Given the description of an element on the screen output the (x, y) to click on. 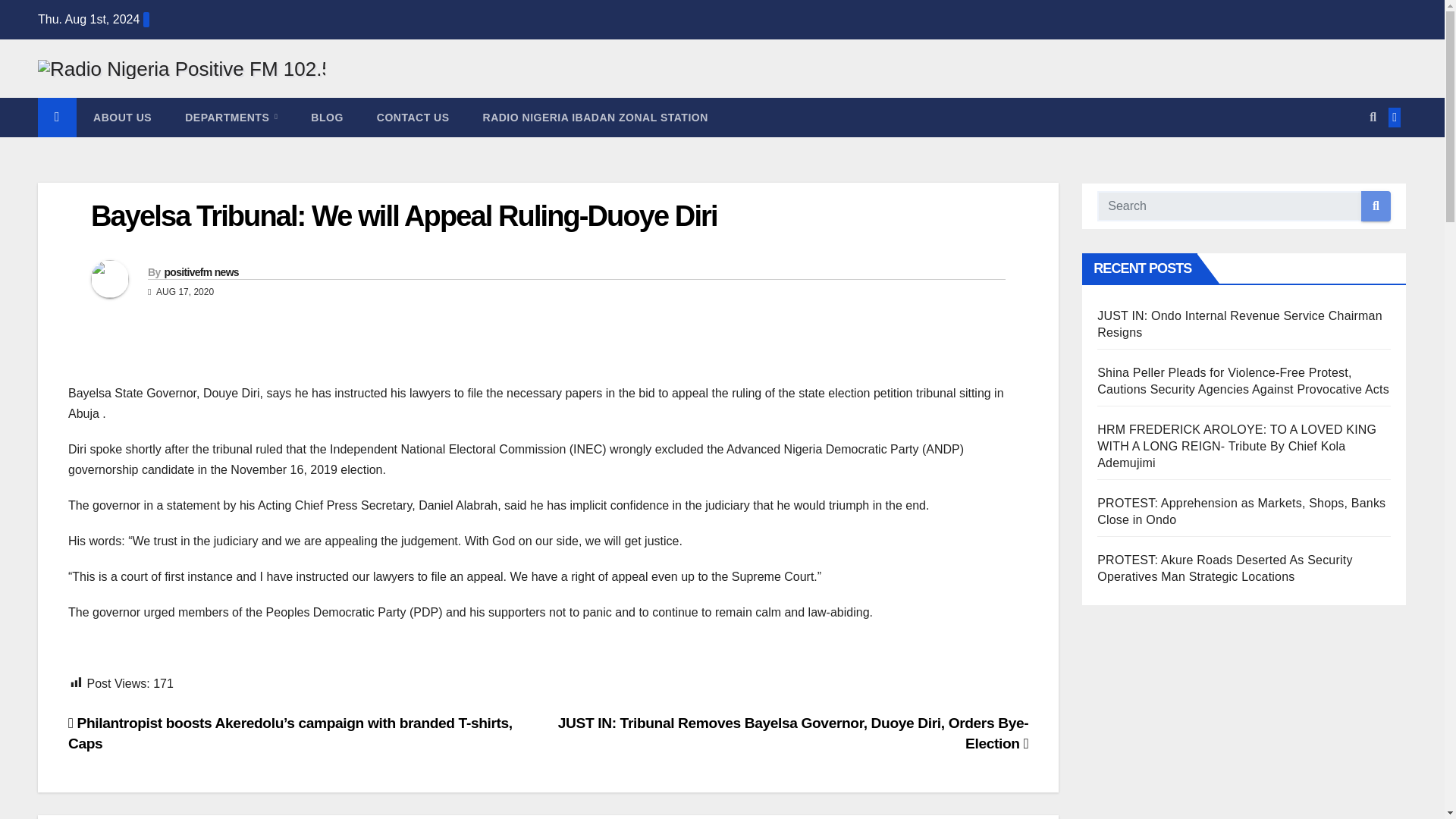
CONTACT US (412, 117)
Contact us (412, 117)
Departments (231, 117)
About us (122, 117)
RADIO NIGERIA IBADAN ZONAL STATION (595, 117)
Bayelsa Tribunal: We will Appeal Ruling-Duoye Diri (403, 215)
ABOUT US (122, 117)
Radio Nigeria Ibadan Zonal Station (595, 117)
DEPARTMENTS (231, 117)
